Given the description of an element on the screen output the (x, y) to click on. 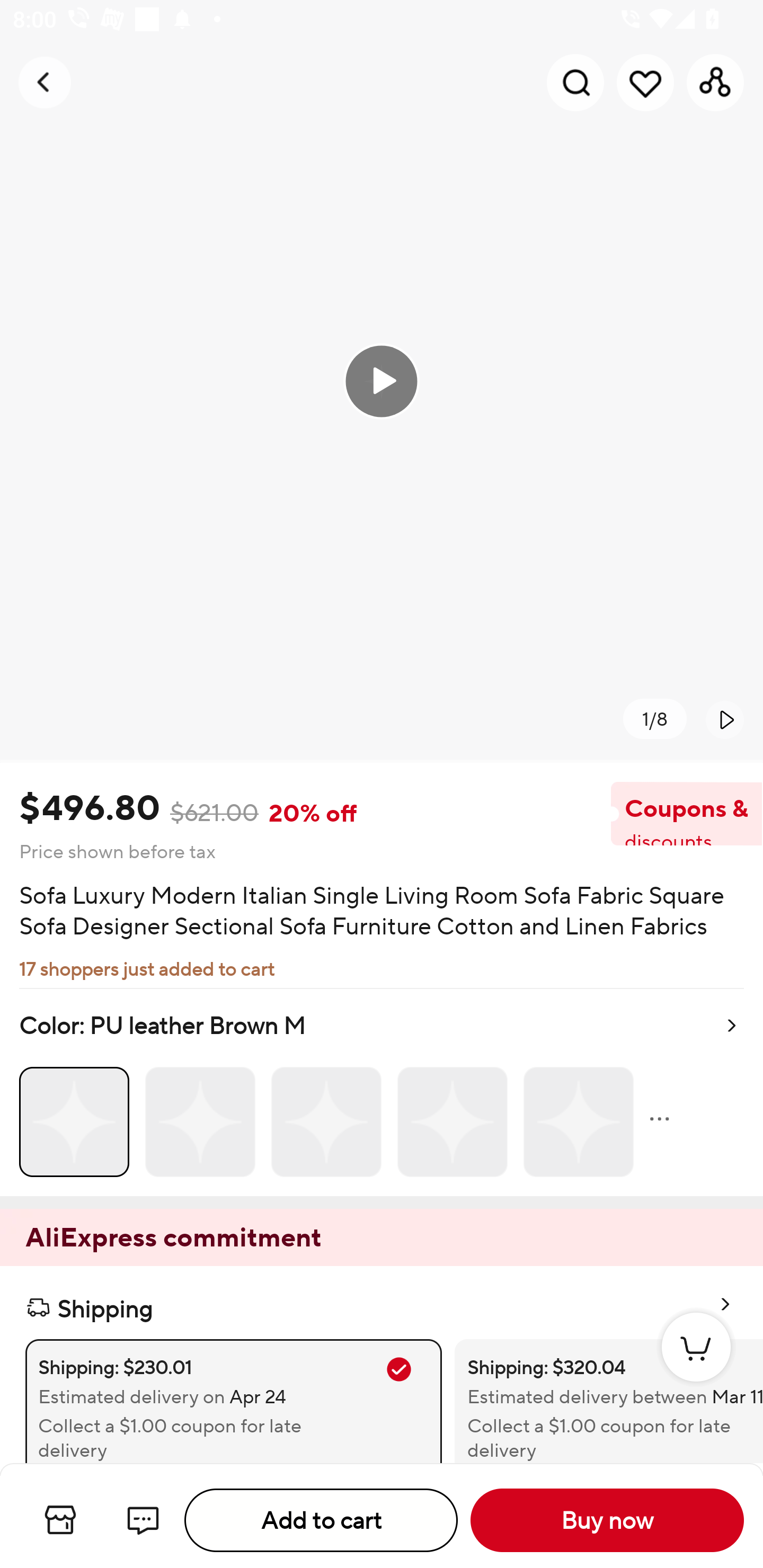
0.0 (381, 381)
Navigate up (44, 82)
 (724, 719)
Color: PU leather Brown M  (381, 1092)
Add to cart (320, 1520)
Buy now (606, 1520)
